Given the description of an element on the screen output the (x, y) to click on. 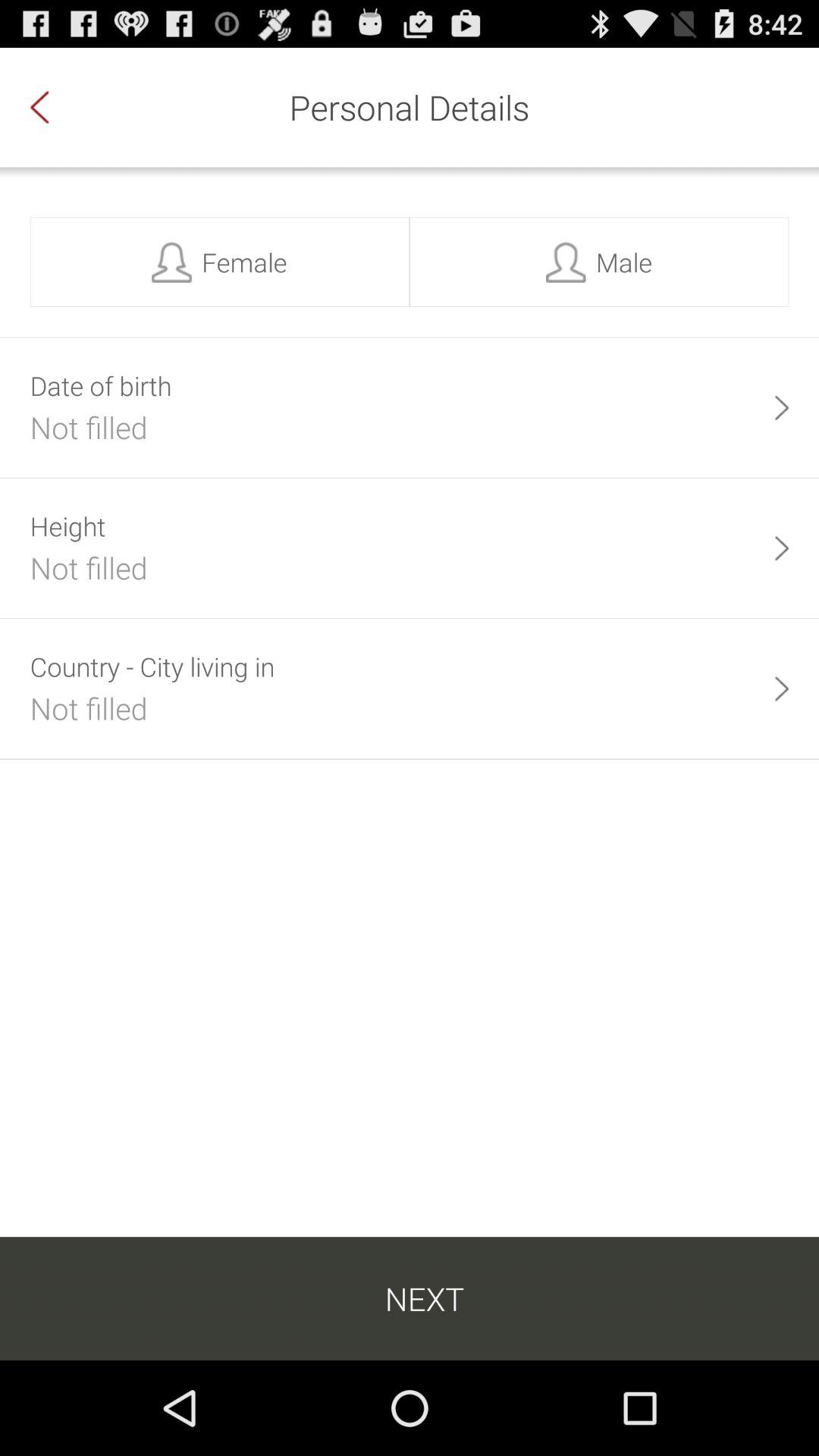
choose icon to the right of the date of birth icon (781, 407)
